Given the description of an element on the screen output the (x, y) to click on. 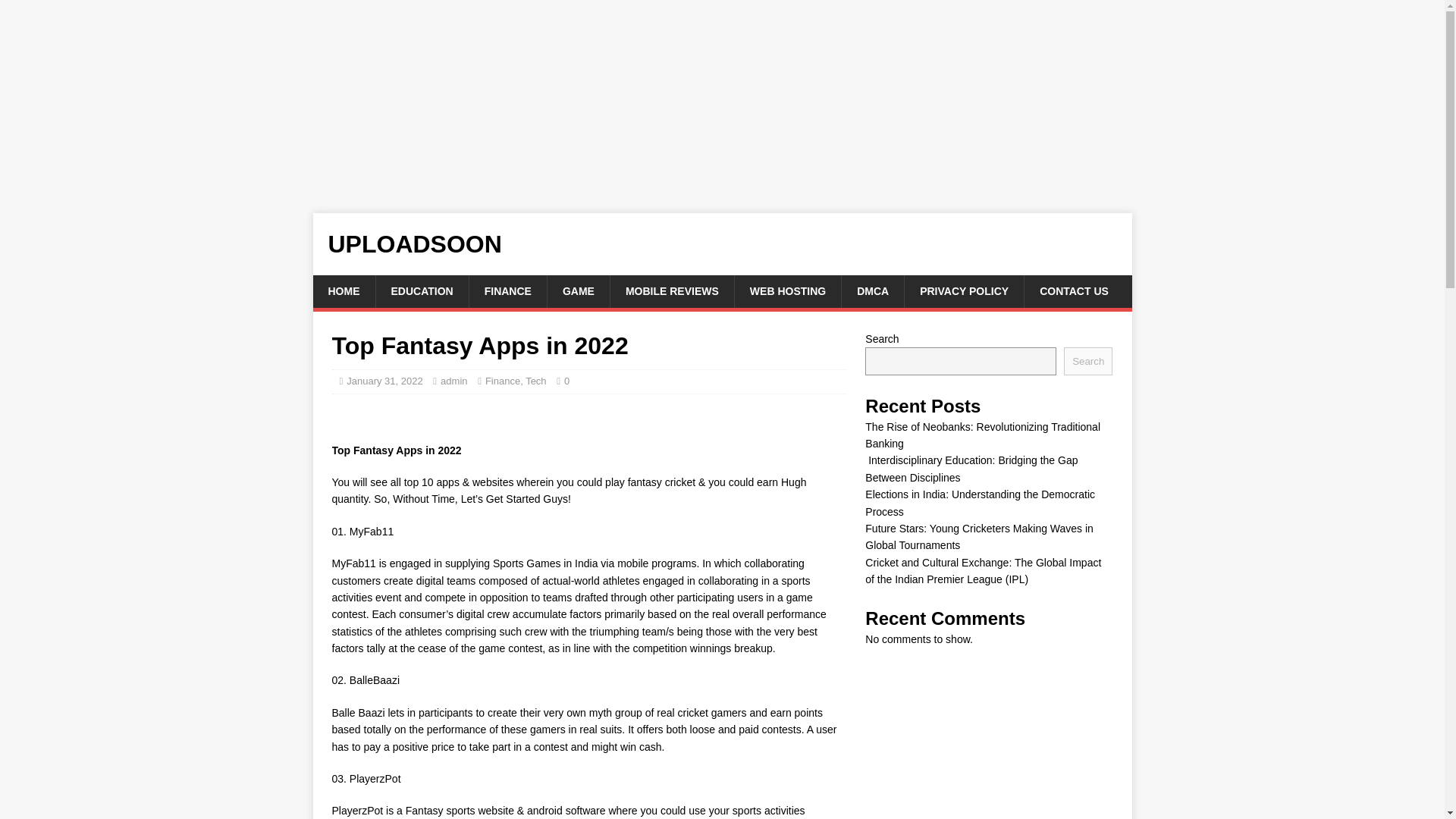
CONTACT US (1073, 291)
WEB HOSTING (787, 291)
Elections in India: Understanding the Democratic Process (979, 502)
January 31, 2022 (384, 380)
PRIVACY POLICY (963, 291)
HOME (343, 291)
GAME (578, 291)
The Rise of Neobanks: Revolutionizing Traditional Banking (982, 434)
EDUCATION (420, 291)
